Given the description of an element on the screen output the (x, y) to click on. 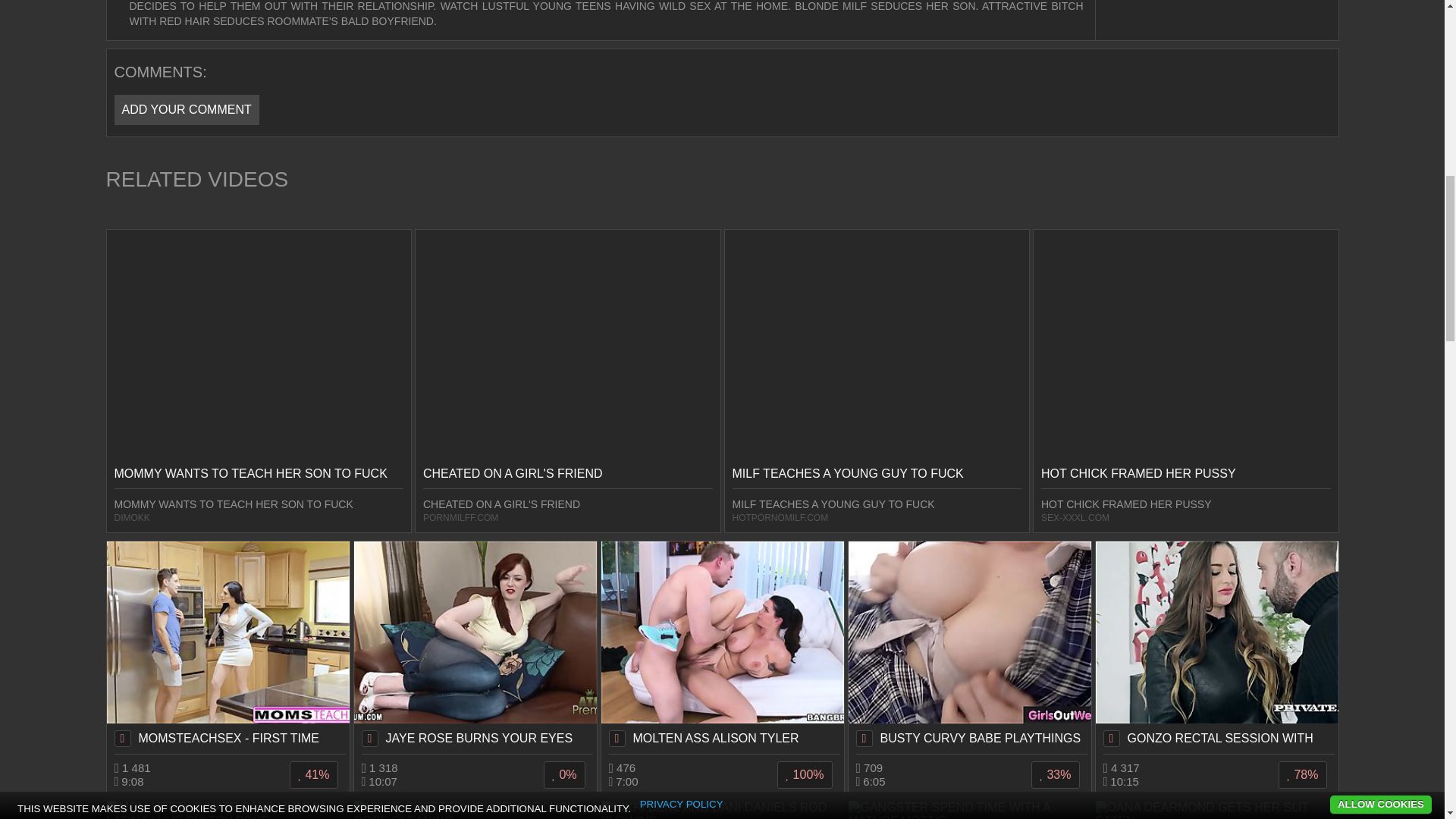
MOLTEN ASS ALISON TYLER RIDES ON TOP (721, 647)
BUSTY CURVY BABE PLAYTHINGS HER FUR (968, 647)
GANGSTER SPEND TIME WITH A MATURE HOTTIE (968, 809)
GONZO RECTAL SESSION WITH HUGE-BOOBED (1216, 647)
MOMSTEACHSEX - FIRST TIME THREE-WAY IS (227, 647)
DANA DEARMOND GETS HER SLIT EATEN (1216, 809)
MOM HEFTY INNATE BAPS MUMMY LATINA LUVS (227, 809)
JAYE ROSE BURNS YOUR EYES WITH HER (474, 647)
HUGE-CHESTED HOUSEWIFE LUCY ROSE (474, 809)
NIKKI BENZ AND DANI DANIELS ROD BLOWING (721, 809)
